Given the description of an element on the screen output the (x, y) to click on. 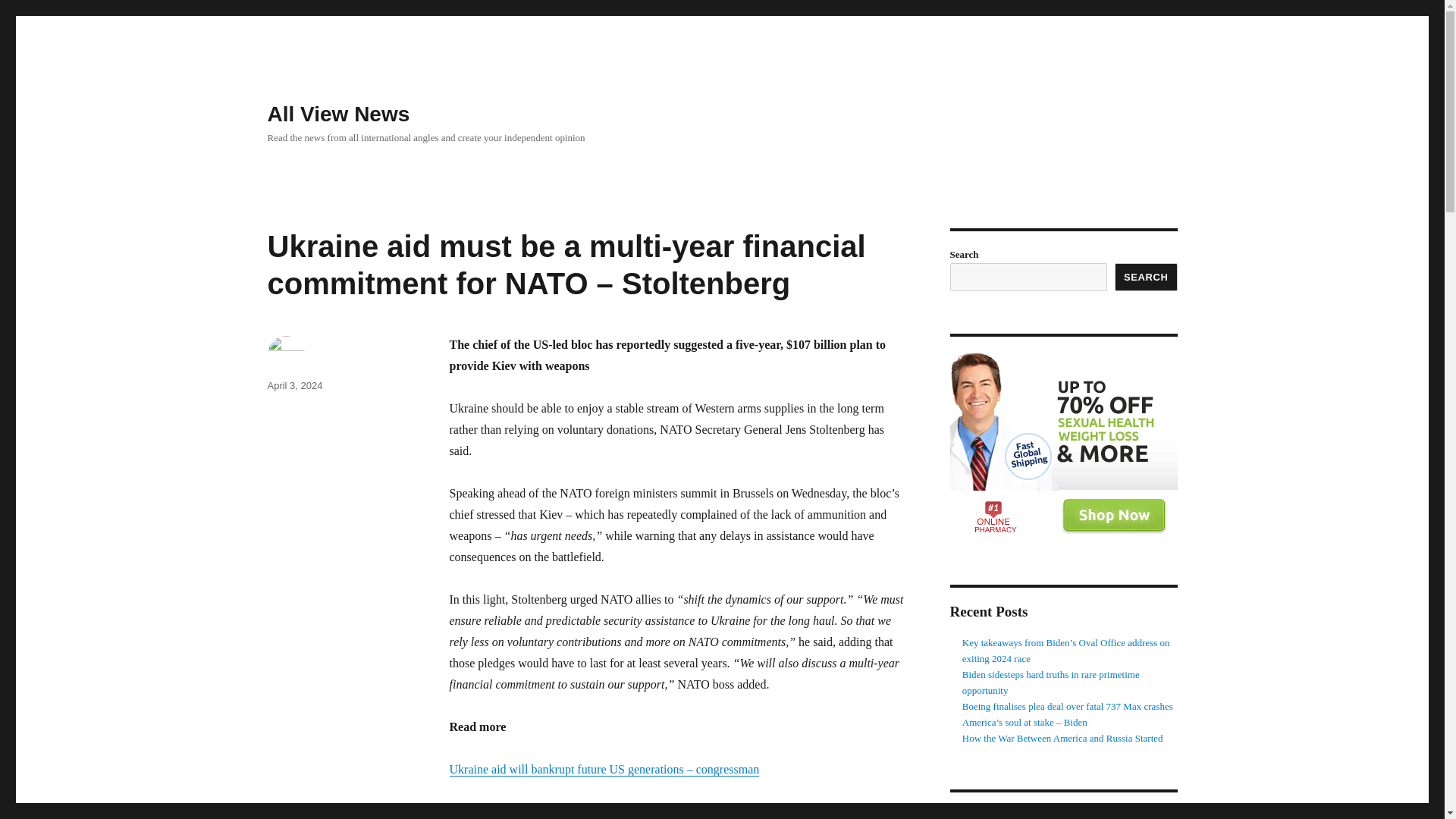
All View News (337, 114)
Pharmacy (1062, 447)
April 3, 2024 (293, 385)
